Given the description of an element on the screen output the (x, y) to click on. 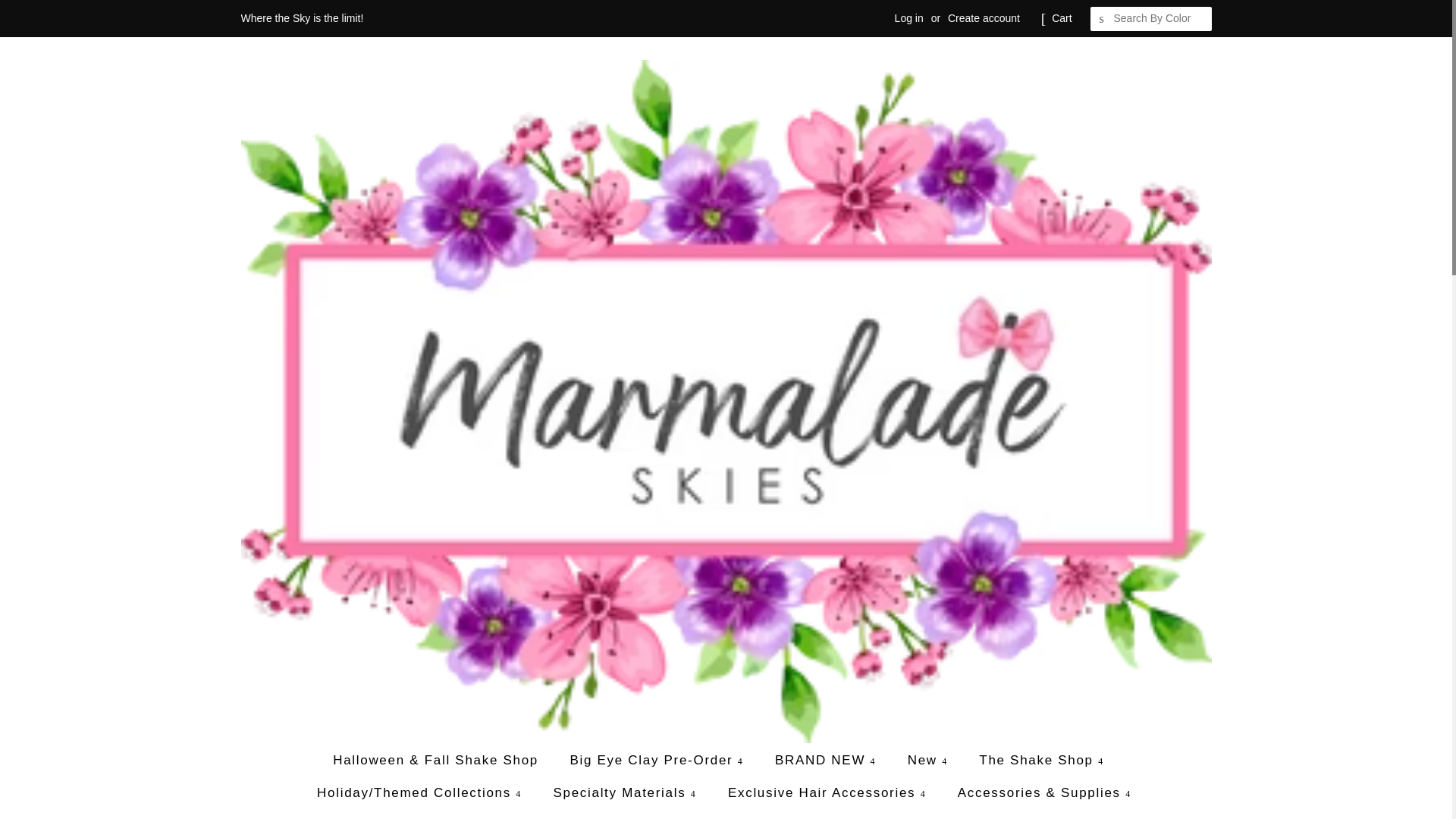
Log in (909, 18)
Search (1102, 18)
Cart (1061, 18)
Create account (983, 18)
